Given the description of an element on the screen output the (x, y) to click on. 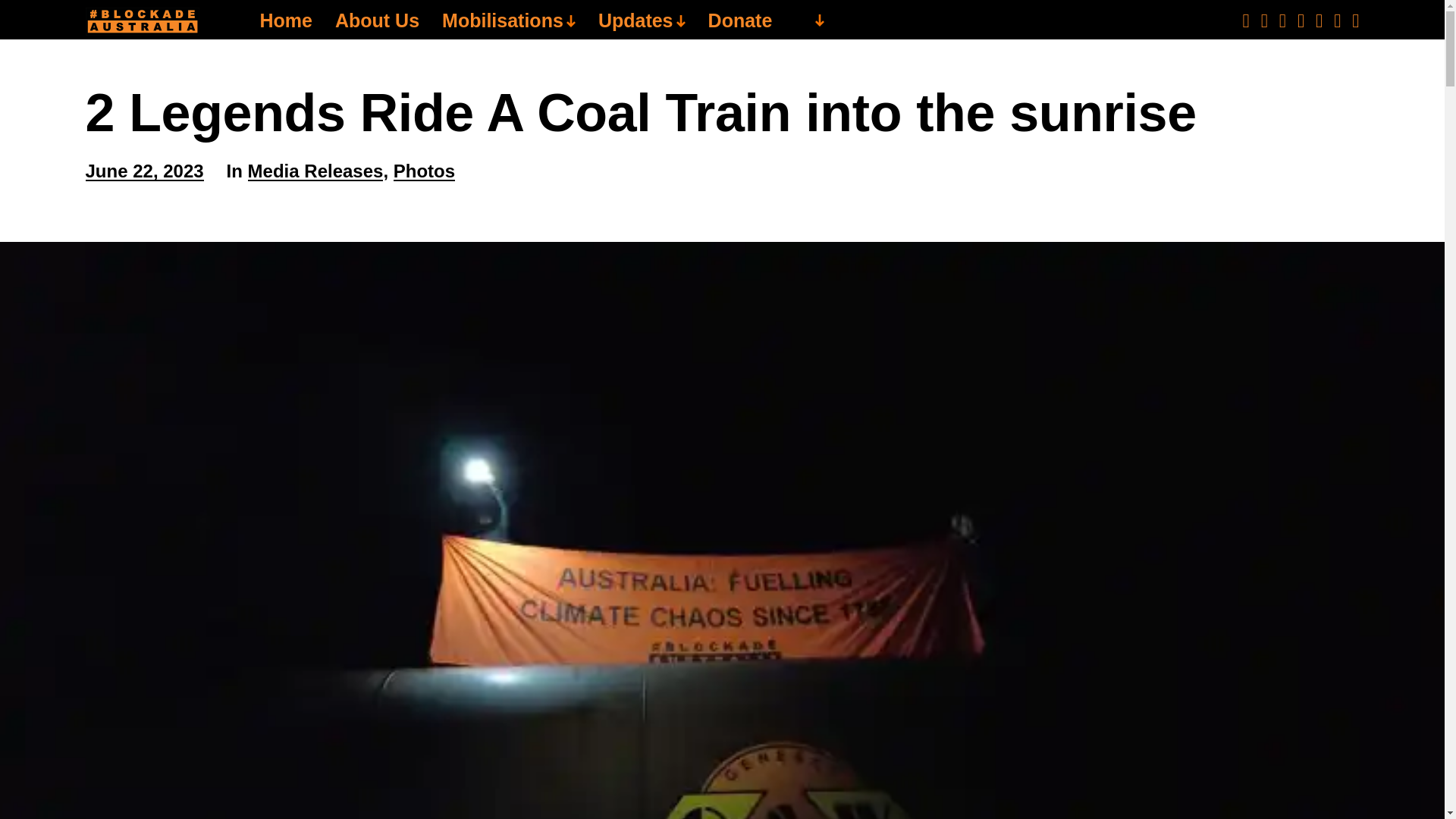
Updates (641, 21)
Donate (740, 21)
Mobilisations (508, 21)
About Us (376, 21)
Blockade Australia (141, 21)
Home (285, 21)
